Given the description of an element on the screen output the (x, y) to click on. 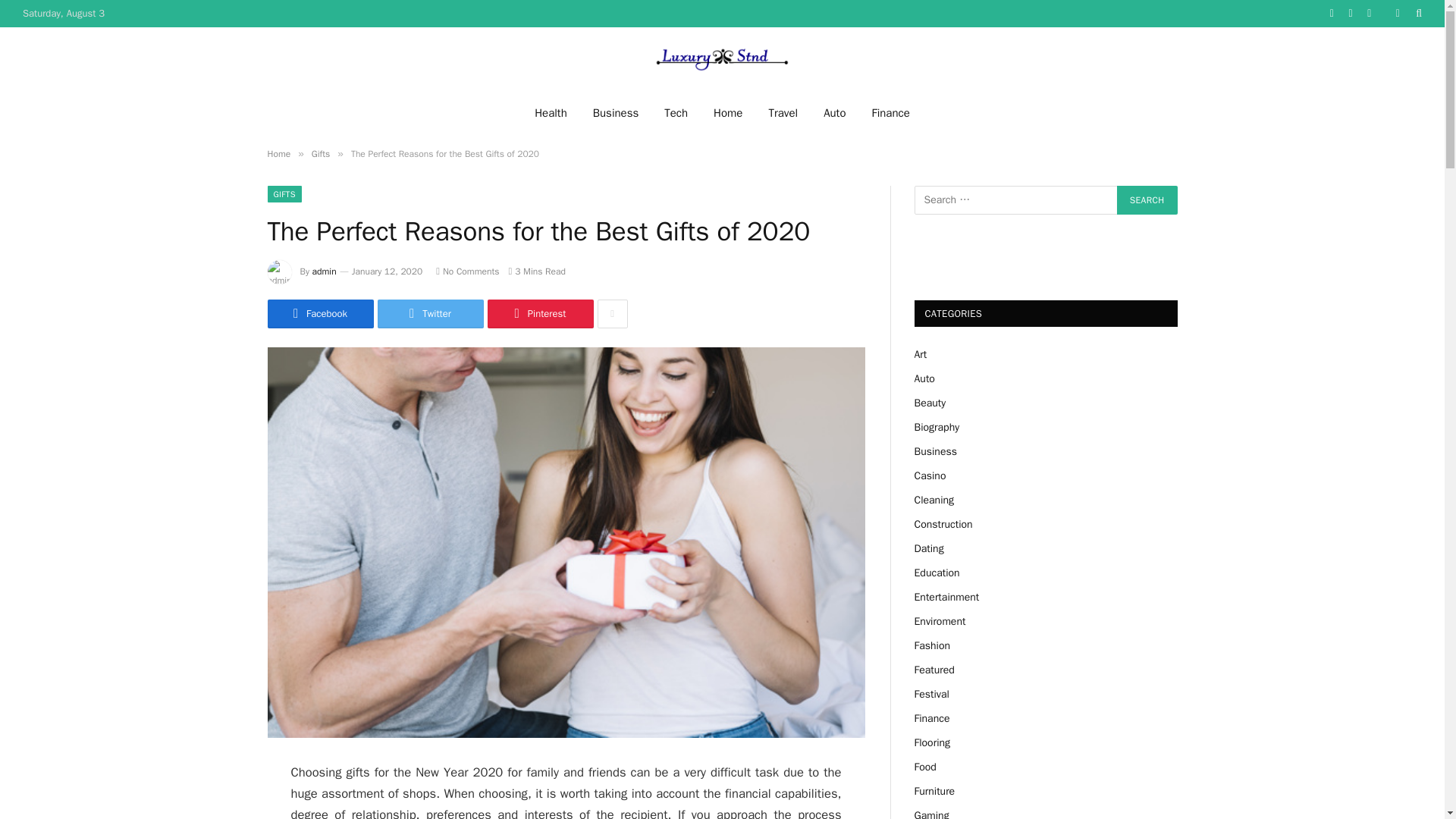
admin (324, 271)
Share on Pinterest (539, 313)
Travel (782, 112)
Share on Facebook (319, 313)
GIFTS (283, 193)
Posts by admin (324, 271)
Auto (834, 112)
Home (727, 112)
Business (615, 112)
Gifts (320, 153)
Tech (675, 112)
Luxury Stnd (722, 59)
Search (1146, 199)
Home (277, 153)
